Given the description of an element on the screen output the (x, y) to click on. 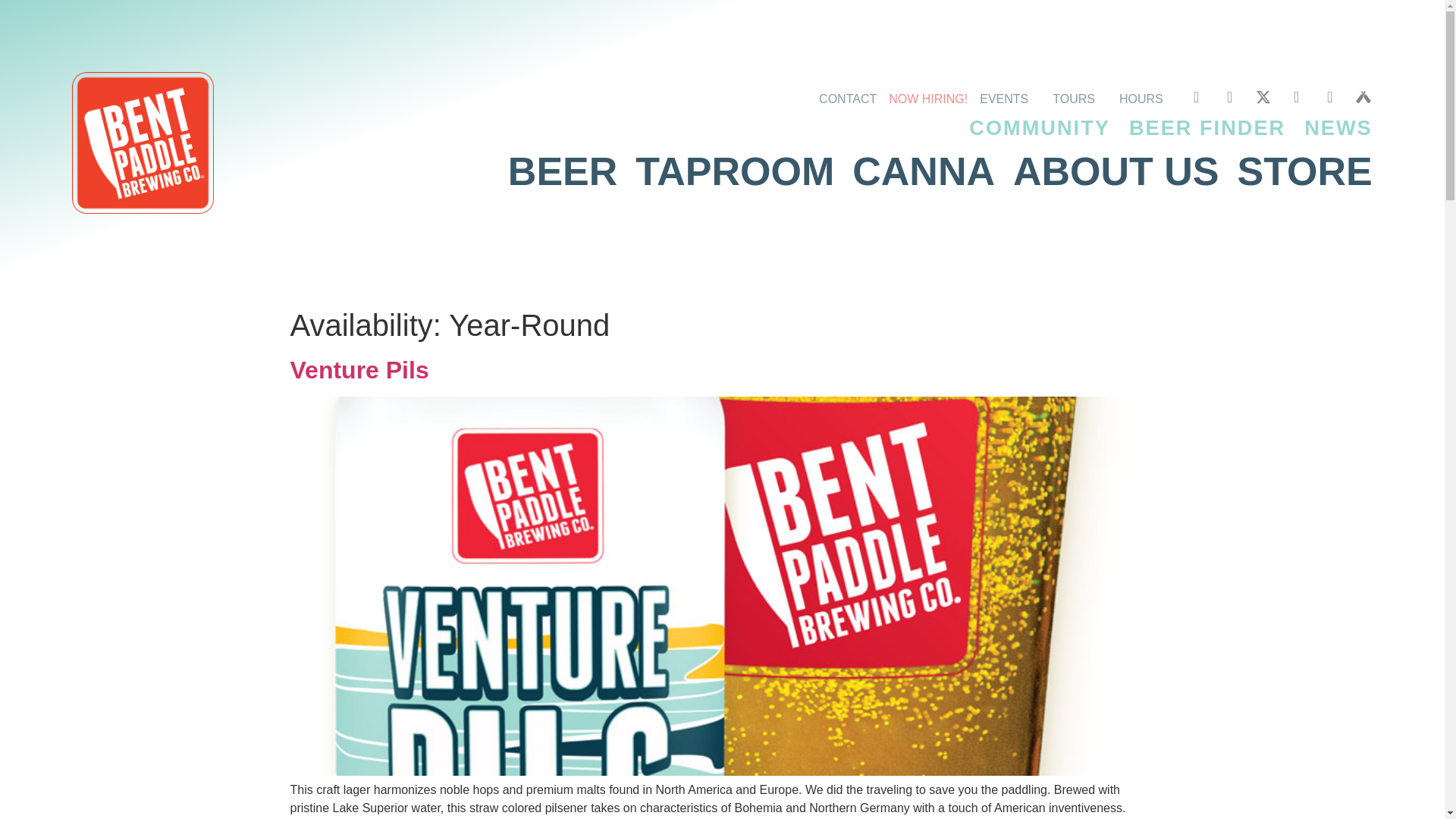
CONTACT (853, 95)
ABOUT US (1116, 171)
NOW HIRING! (933, 95)
CANNA (922, 171)
BEER FINDER (1207, 127)
Venture Pils (358, 370)
EVENTS (1015, 95)
NEWS (1338, 127)
TOURS (1085, 95)
HOURS (1153, 95)
STORE (1305, 171)
BEER (562, 171)
COMMUNITY (1039, 127)
TAPROOM (734, 171)
